Given the description of an element on the screen output the (x, y) to click on. 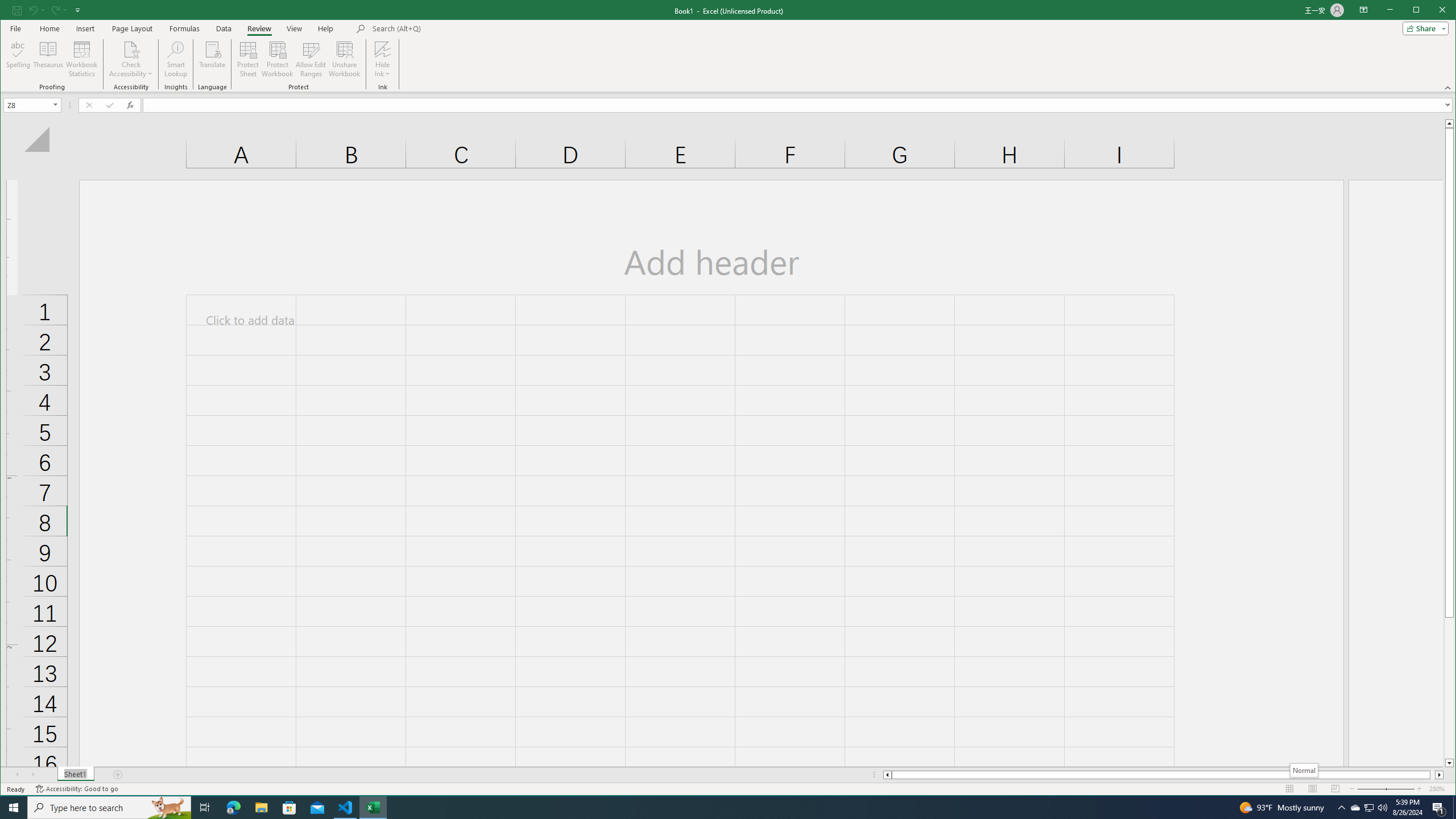
Class: MsoCommandBar (728, 45)
Sheet Tab (75, 774)
Normal (1303, 770)
Page down (1449, 687)
Share (1422, 27)
Check Accessibility (130, 59)
Smart Lookup (176, 59)
Line down (1449, 763)
File Tab (15, 27)
Type here to search (108, 807)
Search highlights icon opens search home window (167, 807)
Microsoft Store (289, 807)
Protect Sheet... (247, 59)
